Given the description of an element on the screen output the (x, y) to click on. 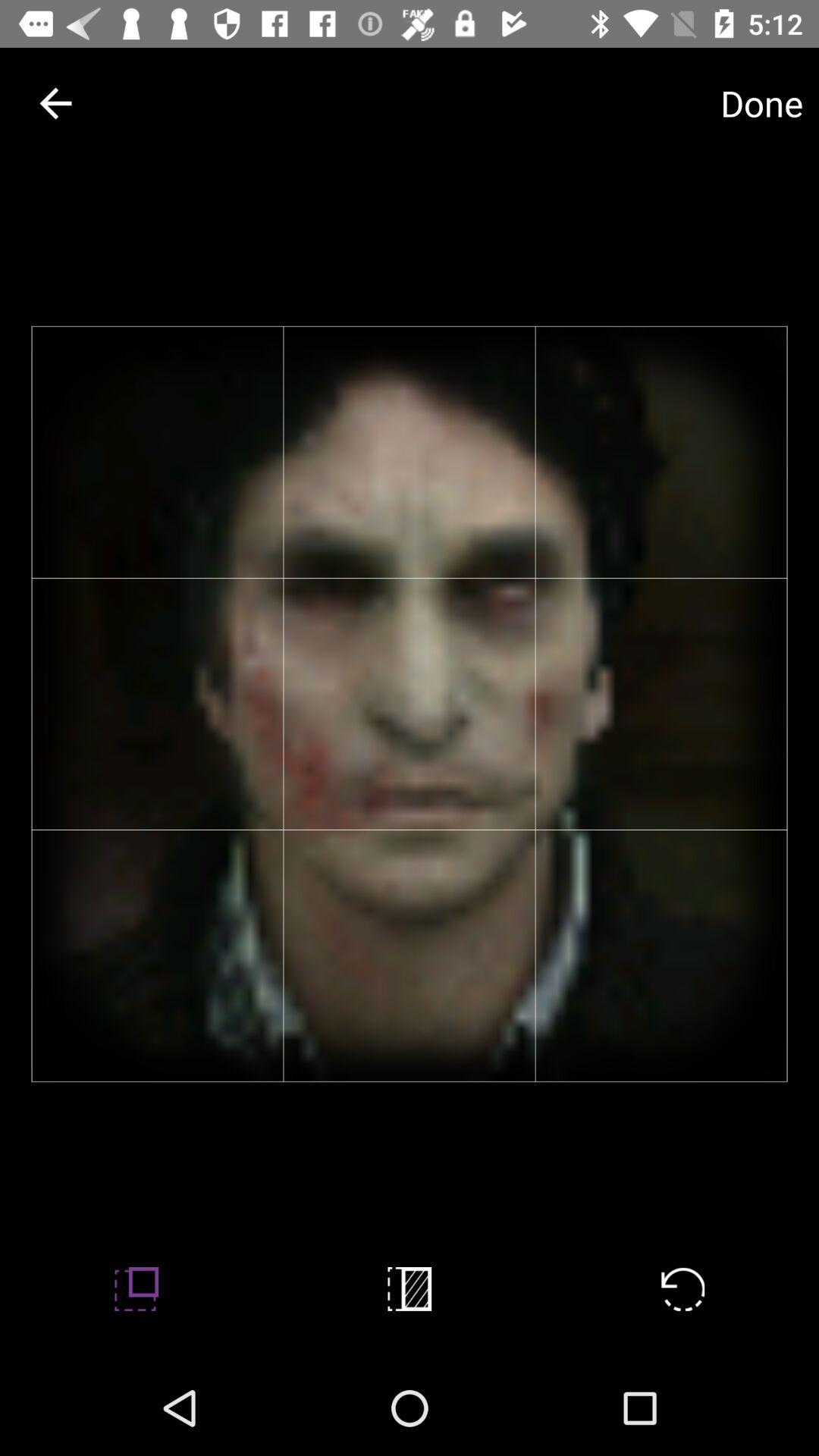
to rescale pictures (136, 1288)
